Given the description of an element on the screen output the (x, y) to click on. 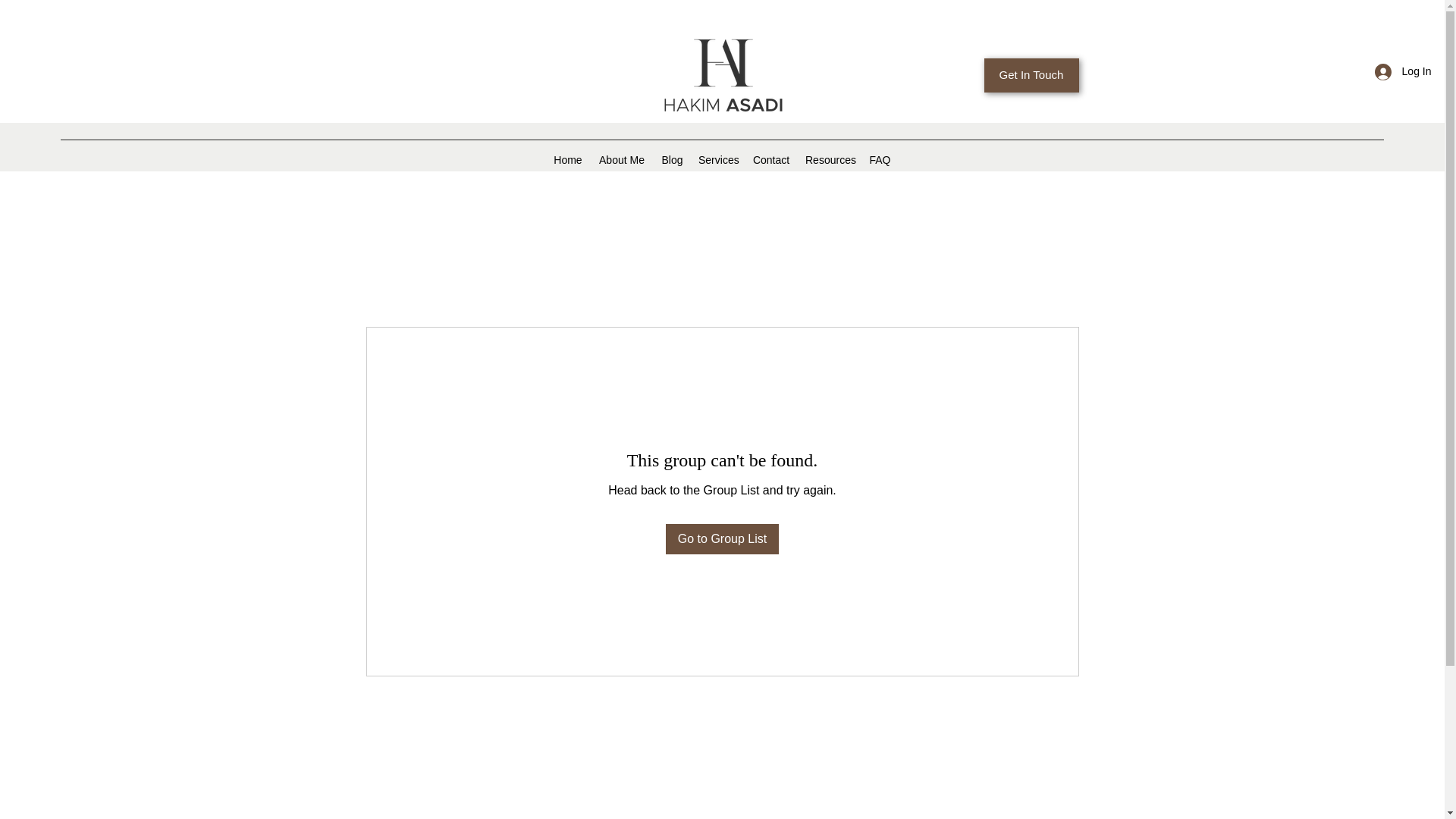
Log In (1403, 71)
Home (567, 159)
Contact (770, 159)
Resources (829, 159)
Services (717, 159)
Blog (671, 159)
Get In Touch (1031, 75)
Go to Group List (721, 539)
FAQ (879, 159)
About Me (621, 159)
